Given the description of an element on the screen output the (x, y) to click on. 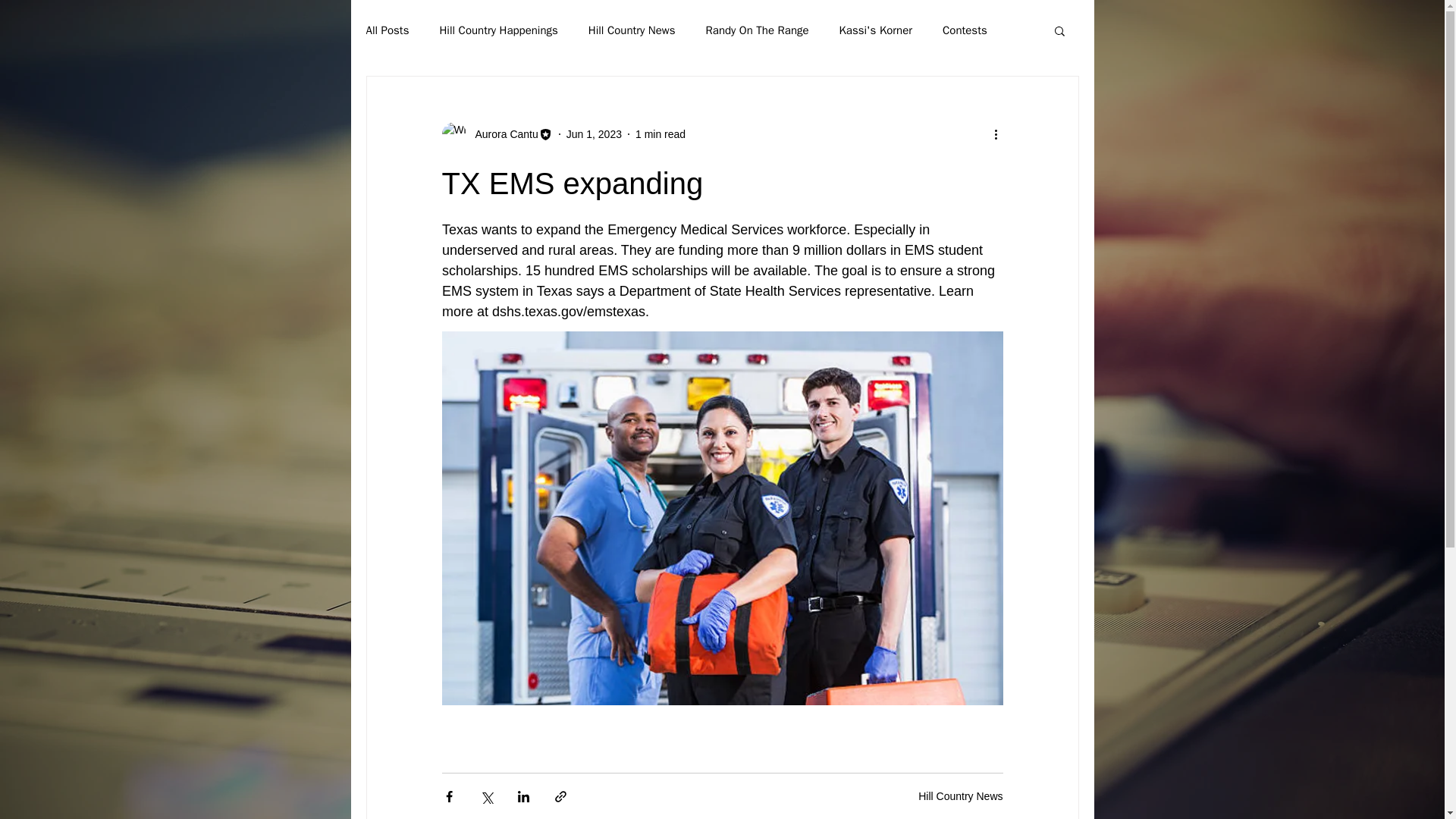
Aurora Cantu (501, 133)
Jun 1, 2023 (593, 133)
1 min read (659, 133)
